Given the description of an element on the screen output the (x, y) to click on. 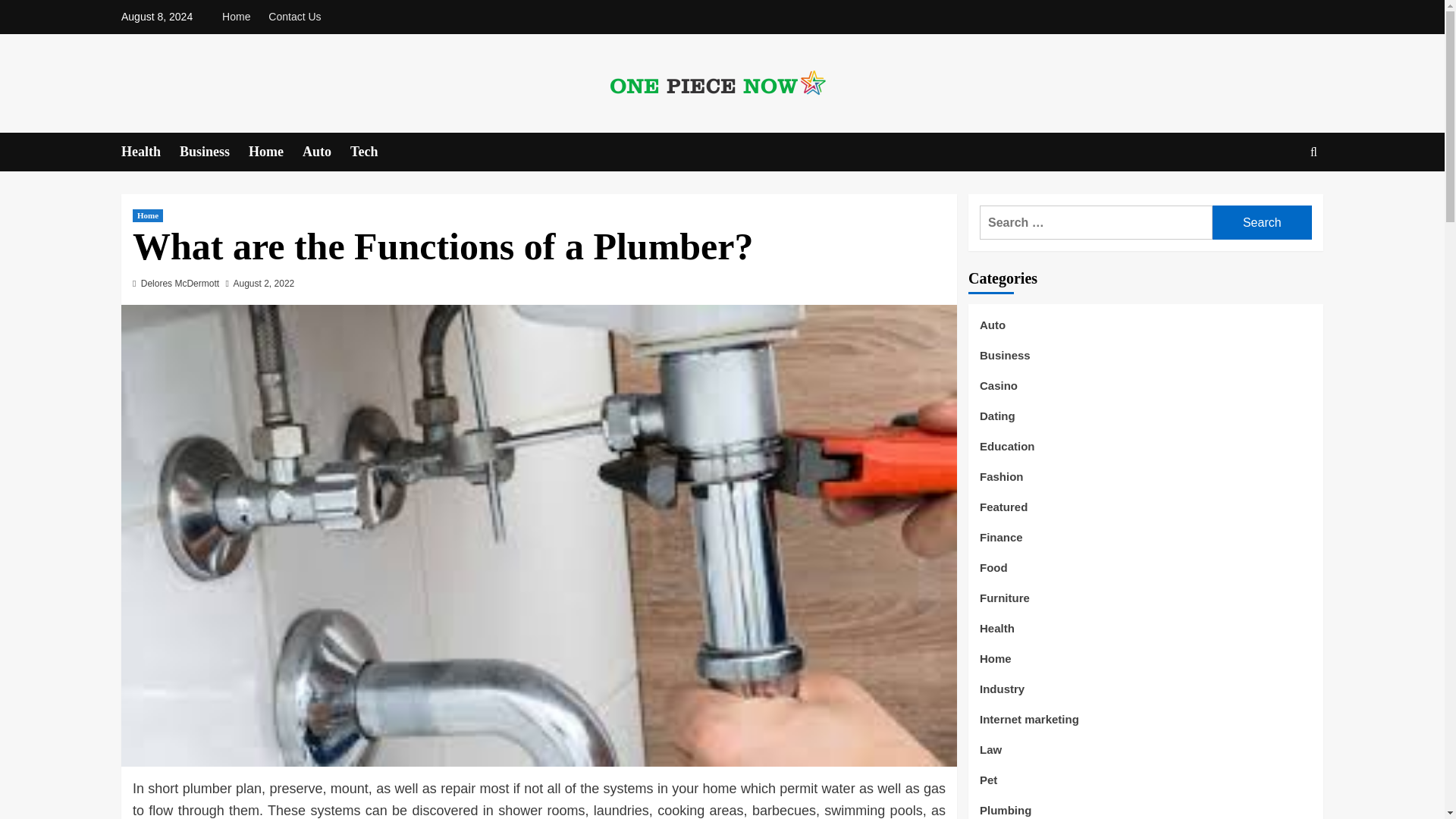
Contact Us (294, 17)
Health (149, 151)
Home (147, 215)
August 2, 2022 (263, 283)
Business (213, 151)
Tech (373, 151)
Auto (326, 151)
Search (1278, 198)
Home (239, 17)
Search (1261, 222)
